Given the description of an element on the screen output the (x, y) to click on. 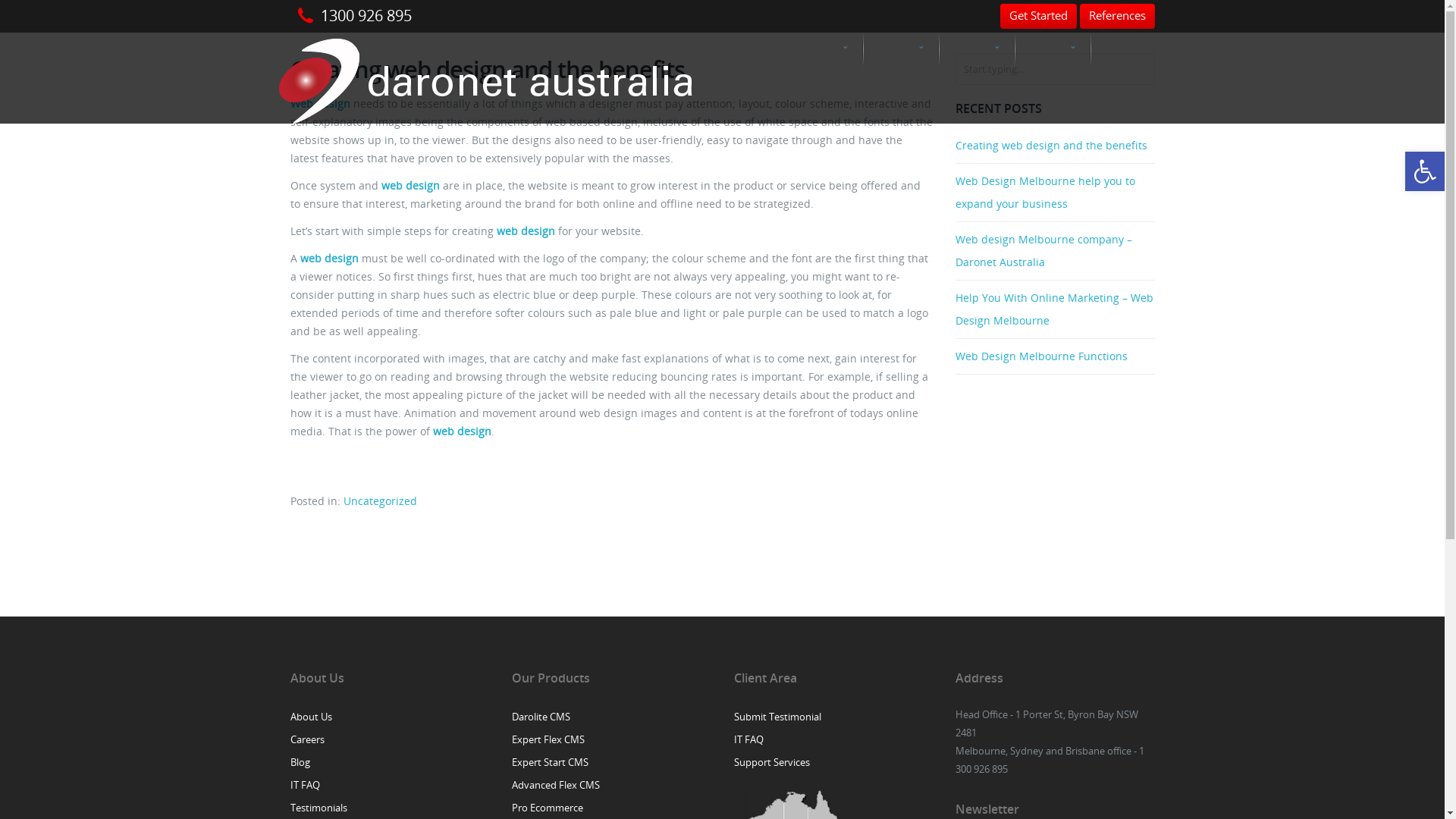
web design Element type: text (409, 185)
References Element type: text (1116, 15)
Darolite CMS Element type: text (540, 716)
IT FAQ Element type: text (748, 739)
About Us Element type: text (310, 716)
Support Services Element type: text (771, 761)
Uncategorized Element type: text (379, 500)
Blog Element type: text (299, 761)
Submit Testimonial Element type: text (777, 716)
Contact Element type: text (1128, 48)
web design Element type: text (524, 230)
Daronet Element type: hover (486, 77)
Testimonials Element type: text (317, 807)
web design Element type: text (329, 258)
IT FAQ Element type: text (304, 784)
Get Started Element type: text (1037, 15)
Pro Ecommerce Element type: text (547, 807)
Web Solutions Element type: text (900, 48)
Web Design Melbourne Functions Element type: text (1054, 356)
Advanced Flex CMS Element type: text (555, 784)
web design Element type: text (461, 430)
Careers Element type: text (306, 739)
Creative Element type: text (1052, 48)
Expert Flex CMS Element type: text (547, 739)
Web design Element type: text (319, 103)
Marketing Element type: text (976, 48)
Web Design Melbourne help you to expand your business Element type: text (1054, 192)
Creating web design and the benefits Element type: text (1054, 145)
Expert Start CMS Element type: text (549, 761)
References Element type: text (1116, 15)
Open toolbar Element type: text (1424, 171)
